Given the description of an element on the screen output the (x, y) to click on. 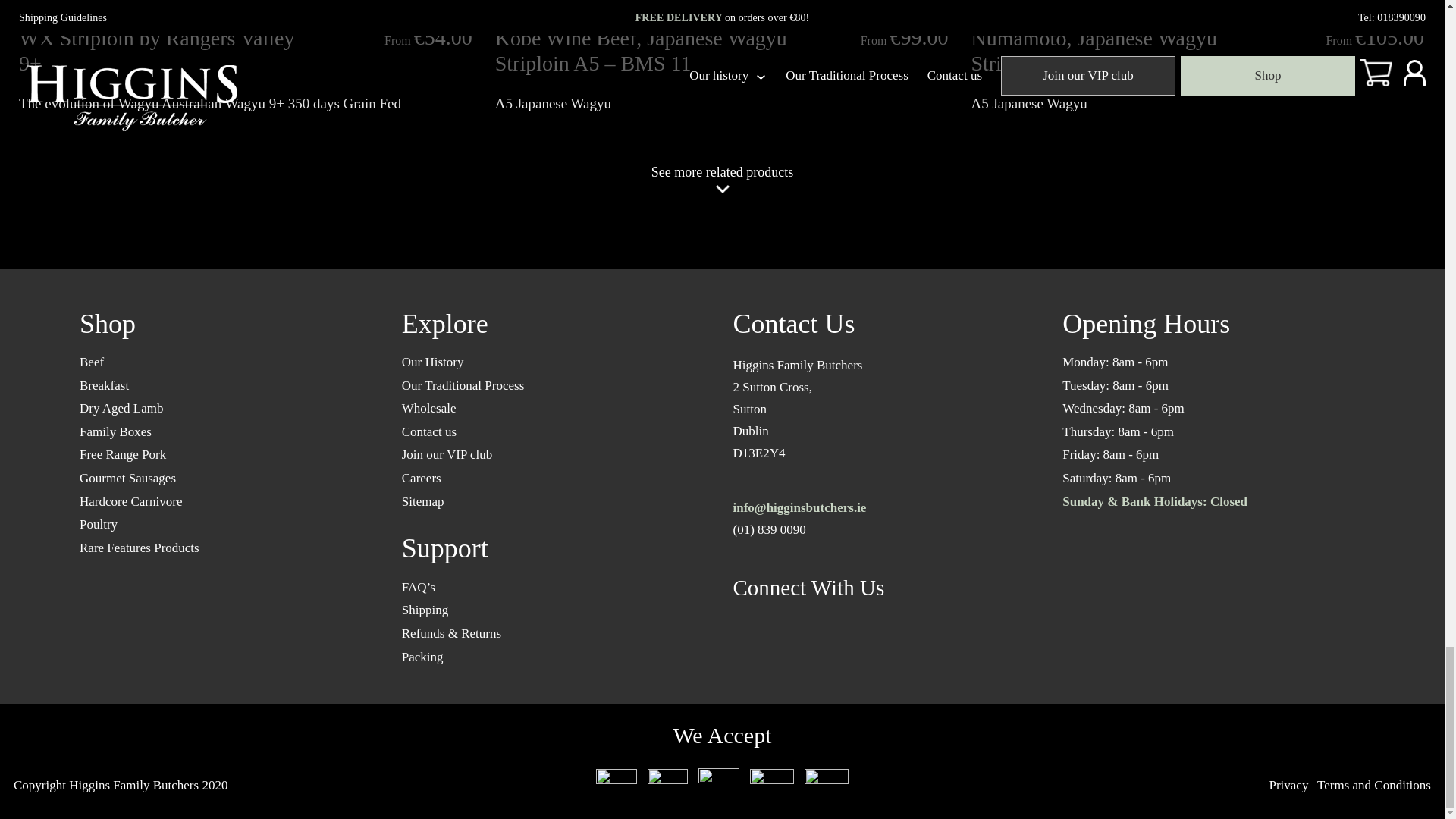
Free Range Pork (122, 454)
Breakfast (104, 385)
Family Boxes (115, 431)
Dry Aged Lamb (121, 408)
Beef (91, 361)
